Given the description of an element on the screen output the (x, y) to click on. 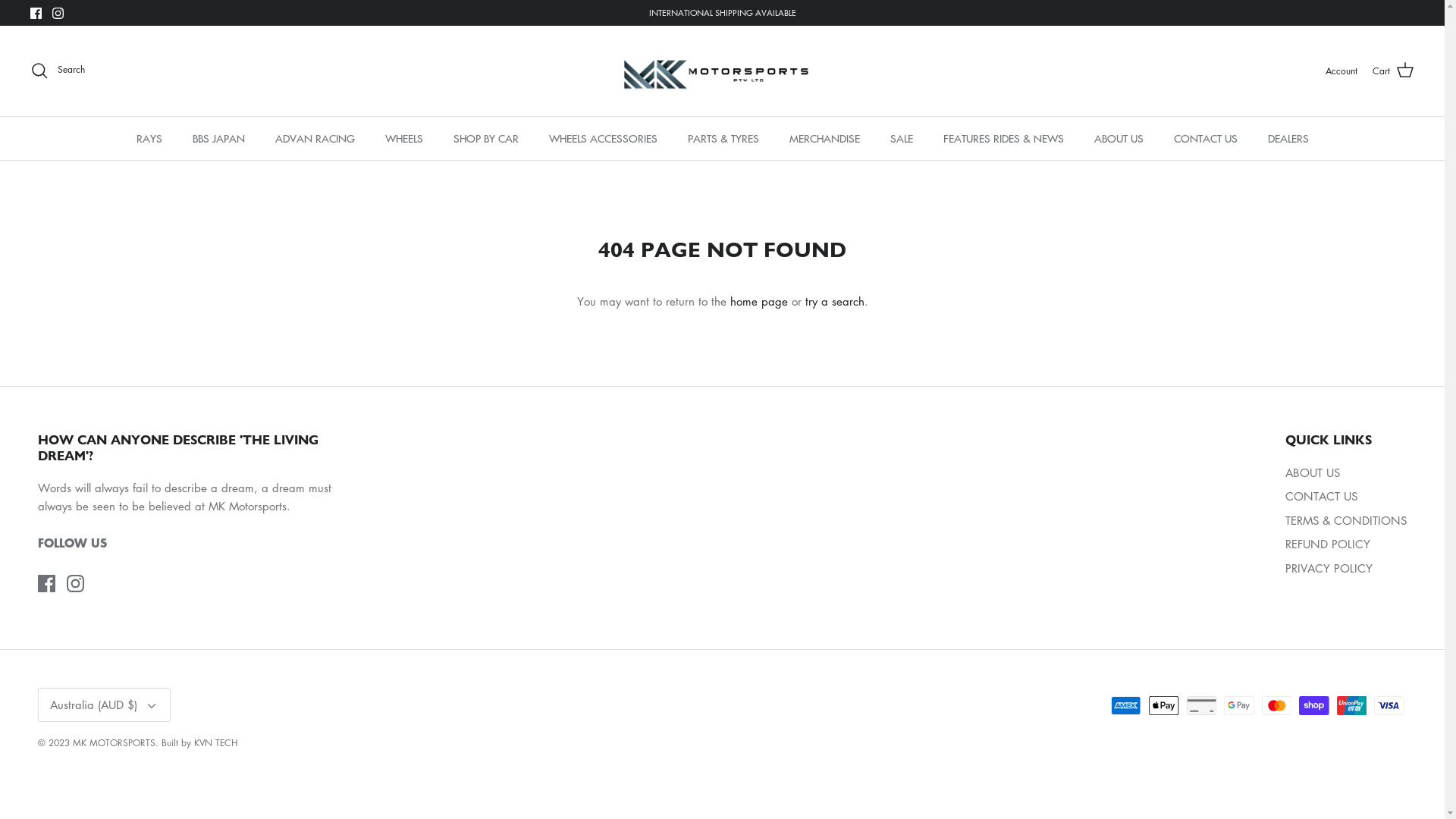
ABOUT US Element type: text (1117, 138)
Account Element type: text (1341, 70)
Instagram Element type: text (57, 12)
Built by KVN TECH Element type: text (199, 742)
Australia (AUD $)
Down Element type: text (103, 704)
ADVAN RACING Element type: text (313, 138)
BBS JAPAN Element type: text (218, 138)
CONTACT US Element type: text (1321, 495)
SALE Element type: text (901, 138)
Facebook Element type: text (35, 12)
DEALERS Element type: text (1288, 138)
PARTS & TYRES Element type: text (722, 138)
Cart Element type: text (1393, 70)
Instagram Element type: text (75, 583)
MK MOTORSPORTS Element type: hover (721, 70)
MERCHANDISE Element type: text (823, 138)
ABOUT US Element type: text (1312, 472)
Facebook Element type: text (46, 583)
FEATURES RIDES & NEWS Element type: text (1003, 138)
CONTACT US Element type: text (1205, 138)
WHEELS Element type: text (403, 138)
REFUND POLICY Element type: text (1327, 543)
SHOP BY CAR Element type: text (485, 138)
Search Element type: text (57, 70)
RAYS Element type: text (148, 138)
PRIVACY POLICY Element type: text (1328, 567)
MK MOTORSPORTS Element type: text (113, 742)
TERMS & CONDITIONS Element type: text (1345, 519)
WHEELS ACCESSORIES Element type: text (603, 138)
try a search Element type: text (834, 300)
home page Element type: text (758, 300)
